Given the description of an element on the screen output the (x, y) to click on. 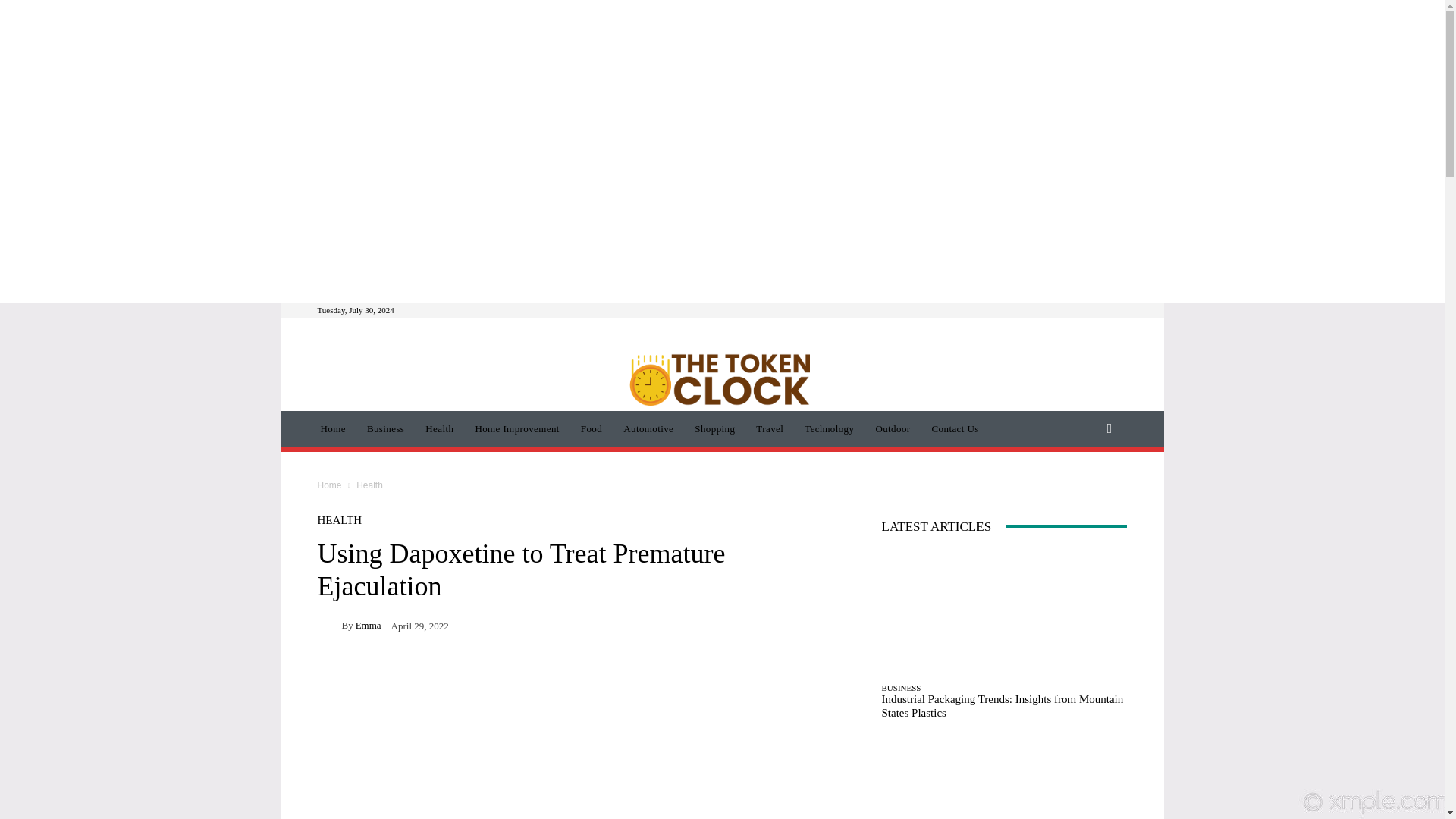
HEALTH (339, 520)
Contact Us (955, 429)
Home (331, 429)
Technology (828, 429)
Food (591, 429)
Shopping (714, 429)
Health (369, 484)
Home Improvement (516, 429)
Travel (769, 429)
Automotive (648, 429)
Health (439, 429)
Home (328, 484)
Business (385, 429)
